Given the description of an element on the screen output the (x, y) to click on. 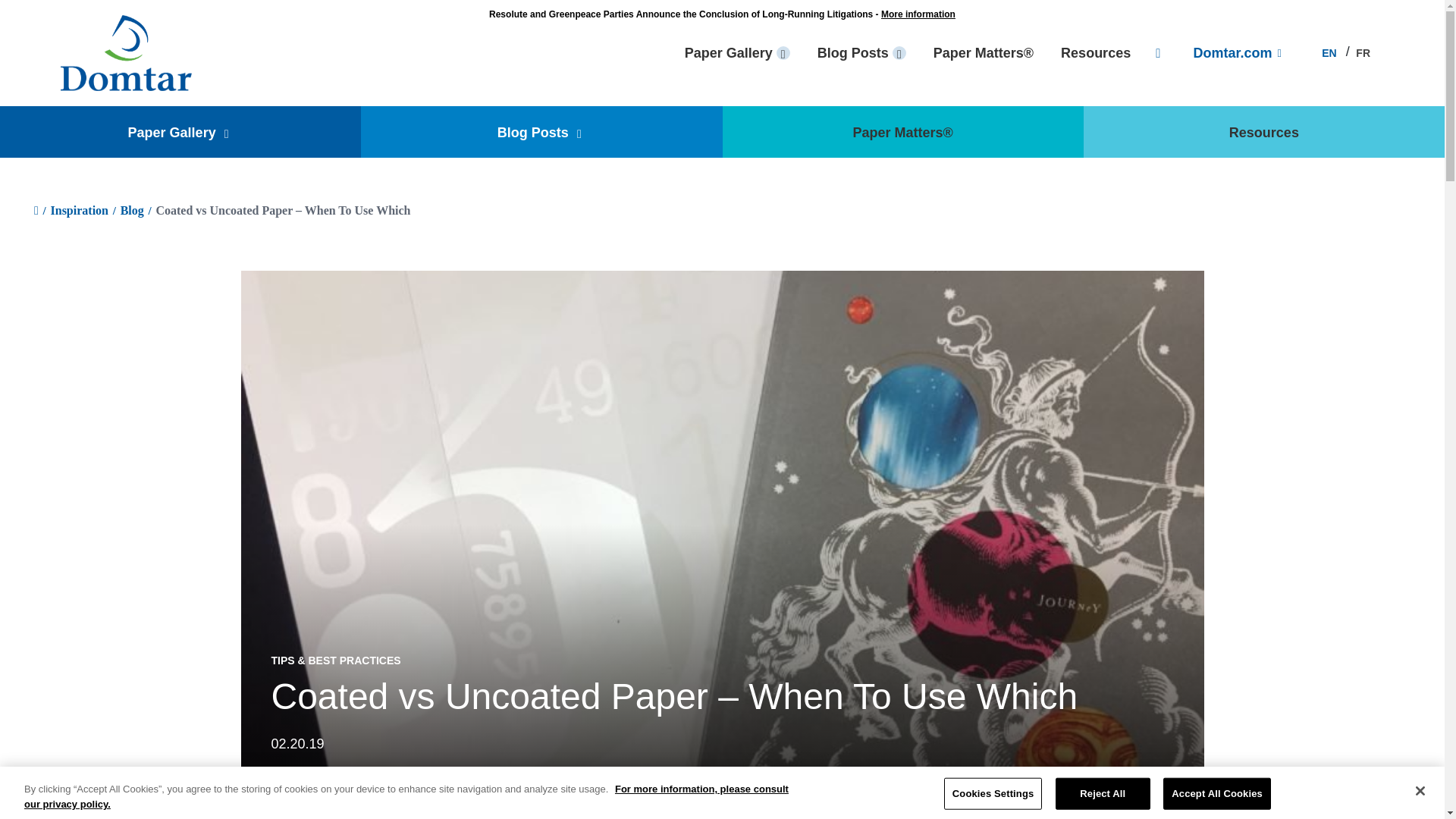
FR (1360, 52)
Domtar.com (126, 52)
Domtar.com (1236, 53)
Paper Gallery (737, 53)
More information (917, 14)
Blog Posts (860, 53)
EN (1326, 52)
Resources (1096, 53)
